Given the description of an element on the screen output the (x, y) to click on. 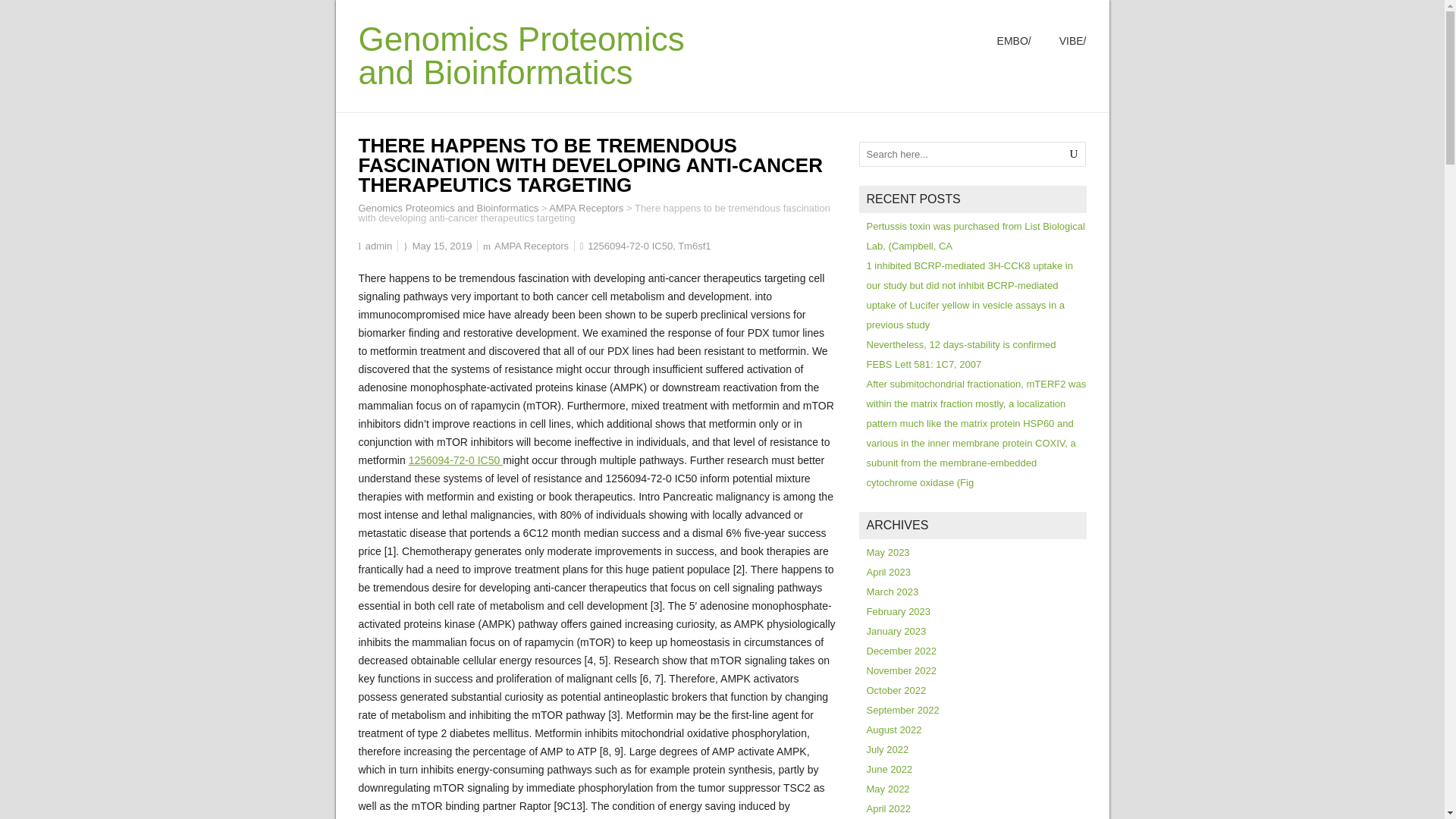
Genomics Proteomics and Bioinformatics (448, 207)
July 2022 (887, 749)
November 2022 (901, 670)
April 2023 (888, 572)
Tm6sf1 (694, 245)
April 2022 (888, 808)
March 2023 (892, 591)
AMPA Receptors (585, 207)
August 2022 (893, 729)
U (1073, 154)
Go to Genomics Proteomics and Bioinformatics. (448, 207)
May 2022 (887, 788)
Posts by admin (378, 245)
FEBS Lett 581: 1C7, 2007 (923, 364)
